Given the description of an element on the screen output the (x, y) to click on. 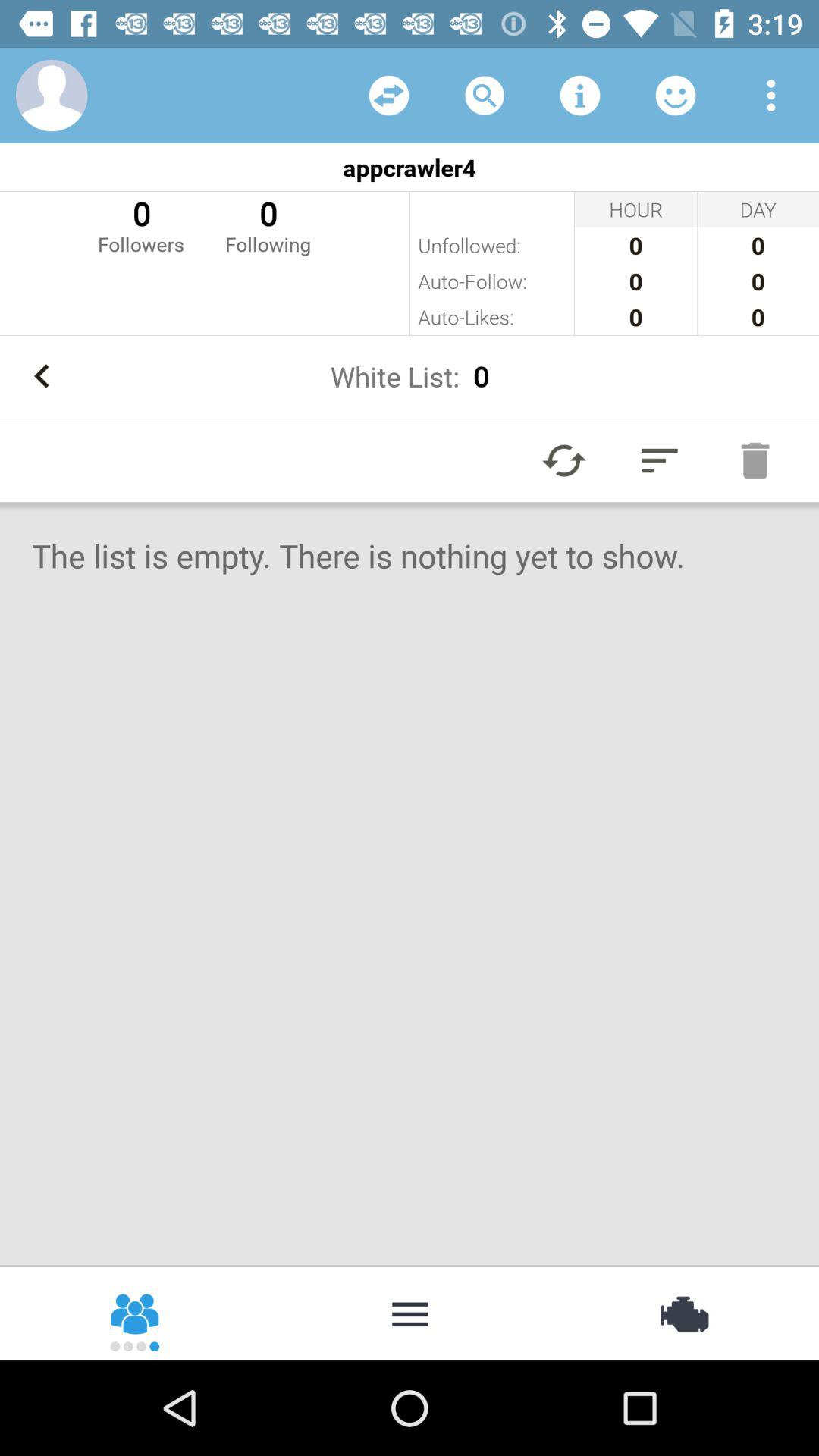
click refresh option (388, 95)
